Given the description of an element on the screen output the (x, y) to click on. 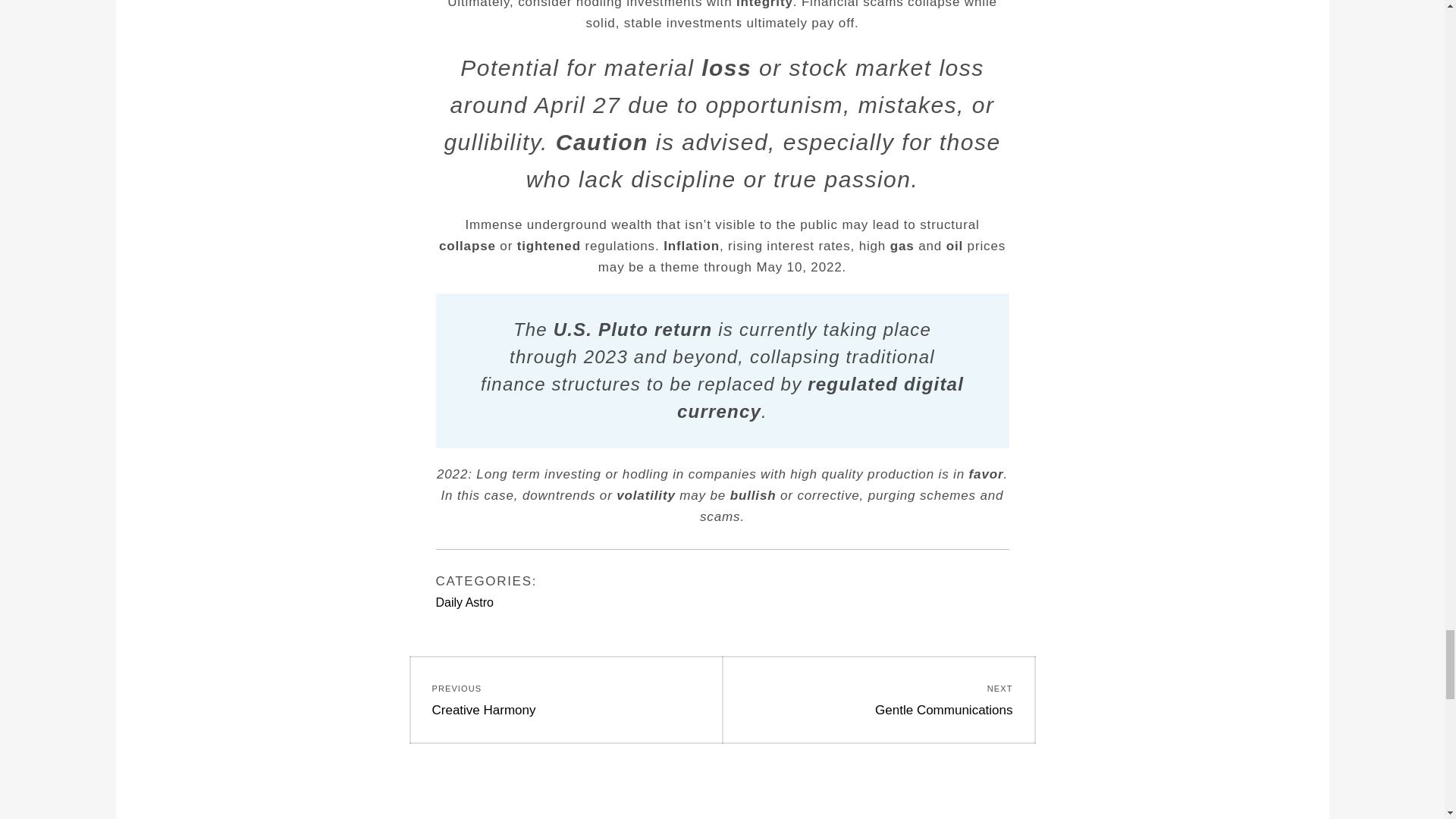
Daily Astro (464, 602)
